Given the description of an element on the screen output the (x, y) to click on. 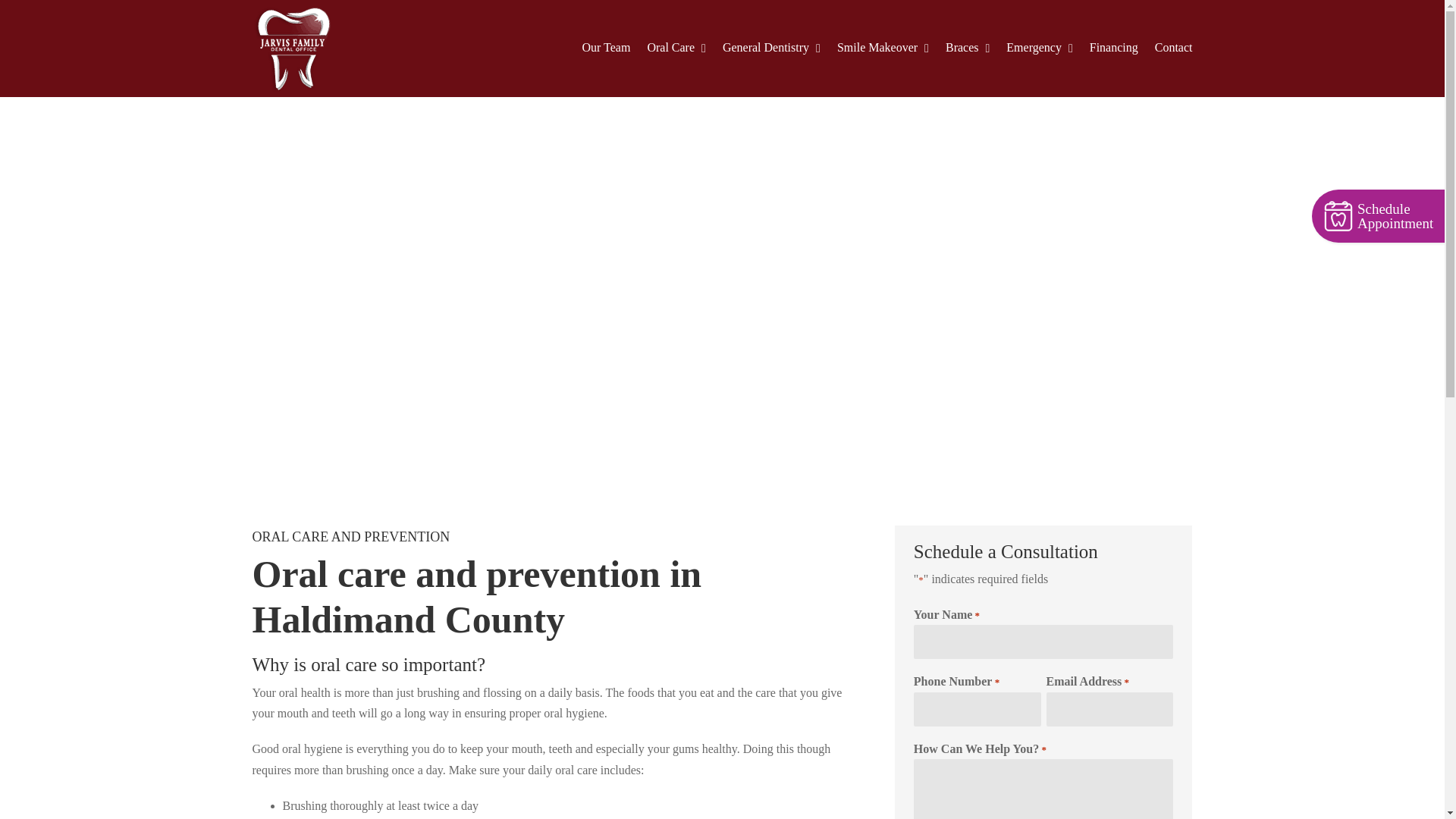
Smile Makeover (882, 47)
General Dentistry (771, 47)
